Given the description of an element on the screen output the (x, y) to click on. 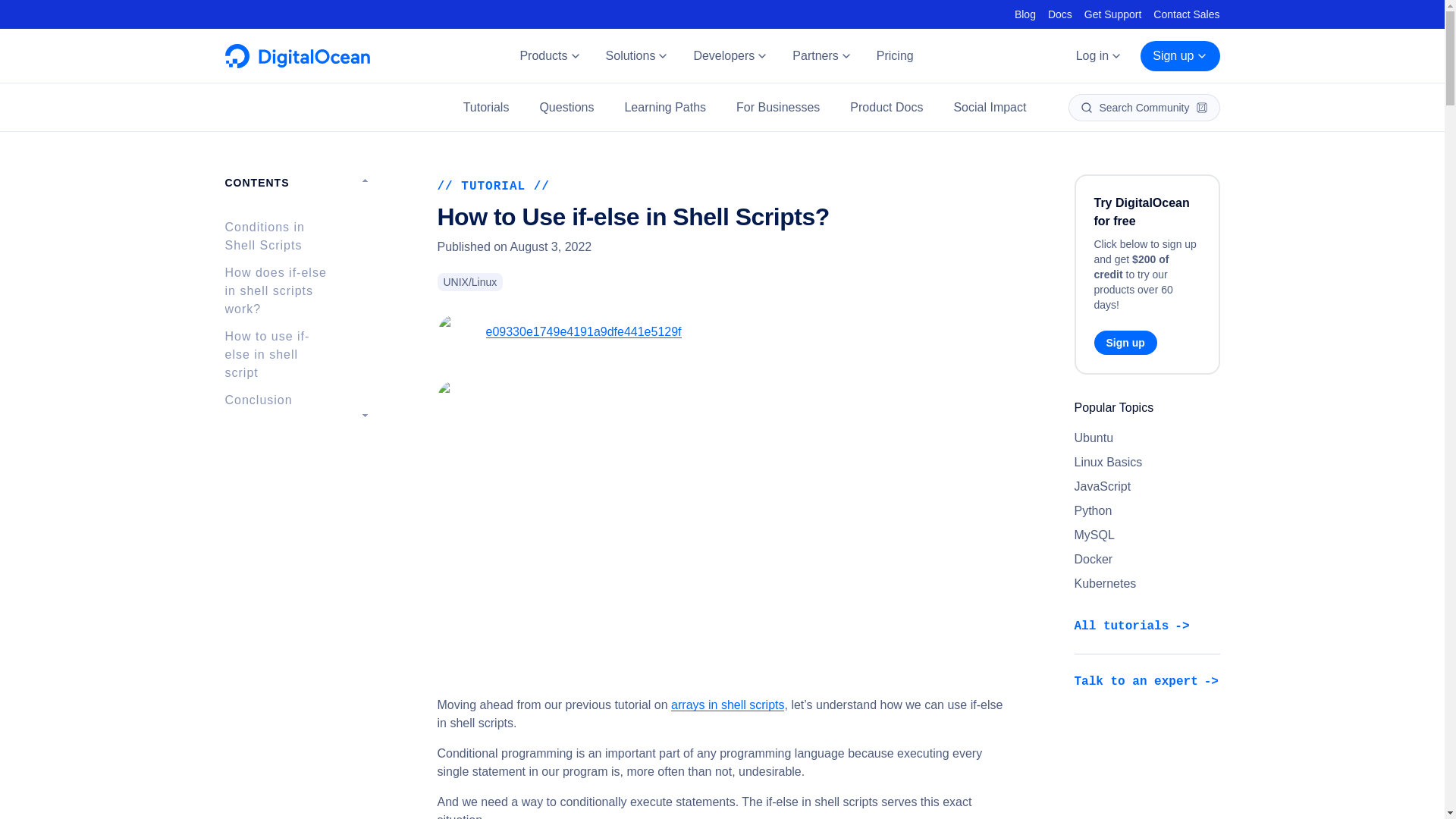
Get Support (1112, 14)
Docs (1059, 14)
Contact Sales (1186, 14)
Blog (1024, 14)
Products (549, 55)
DigitalOcean (296, 63)
